Given the description of an element on the screen output the (x, y) to click on. 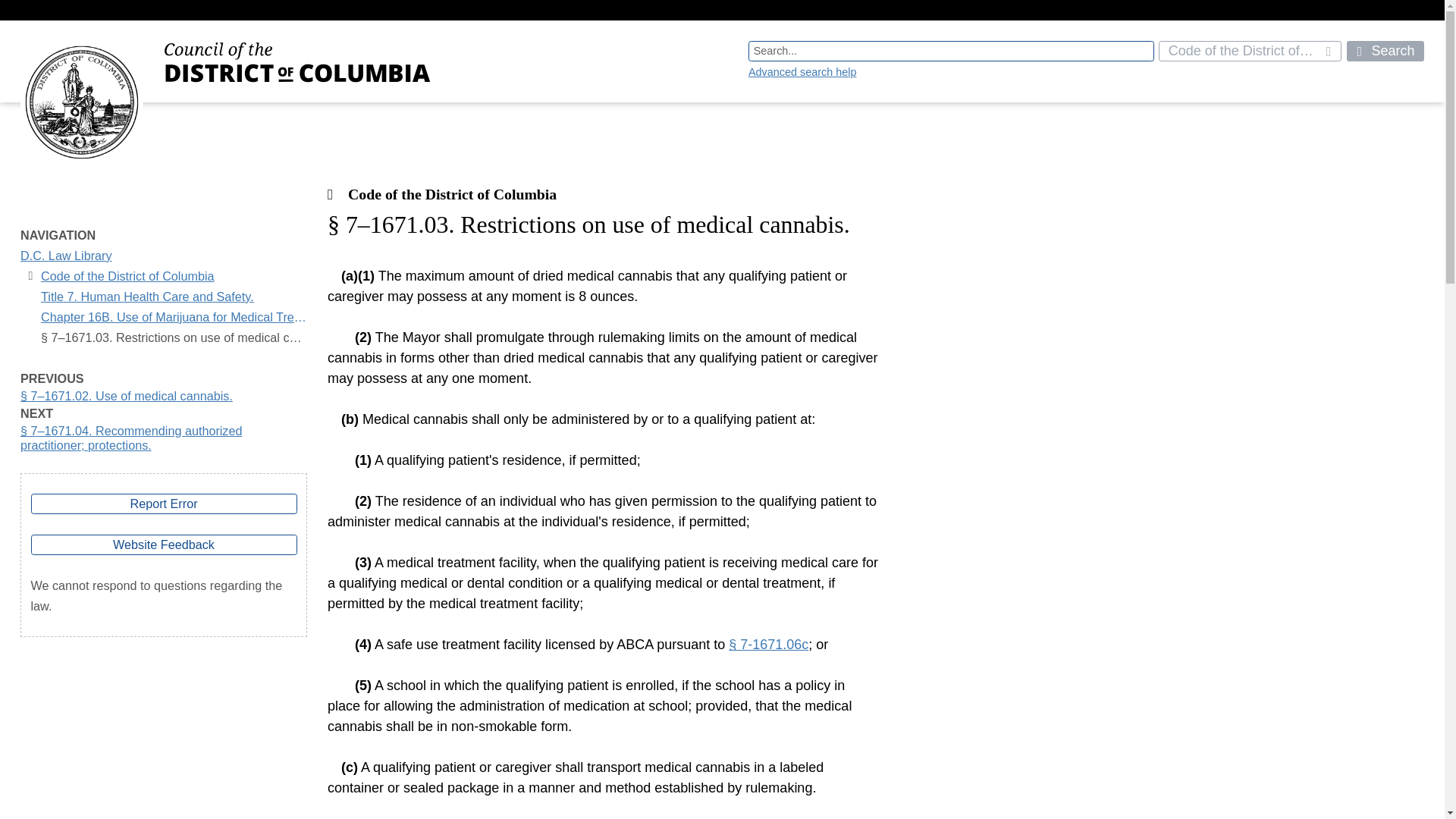
Skip to main content (20, 31)
Chapter 16B. Use of Marijuana for Medical Treatment. (173, 317)
D.C. Law Library (66, 255)
Search (1384, 50)
Code of the District of Columbia (127, 276)
Advanced search help (802, 70)
Code of the District of Columbia (127, 276)
Code of the District of Columbia (1249, 50)
Title 7. Human Health Care and Safety. (146, 296)
Chapter 16B. Use of Marijuana for Medical Treatment. (173, 317)
D.C. Law Library (66, 255)
Title 7. Human Health Care and Safety. (146, 296)
